Given the description of an element on the screen output the (x, y) to click on. 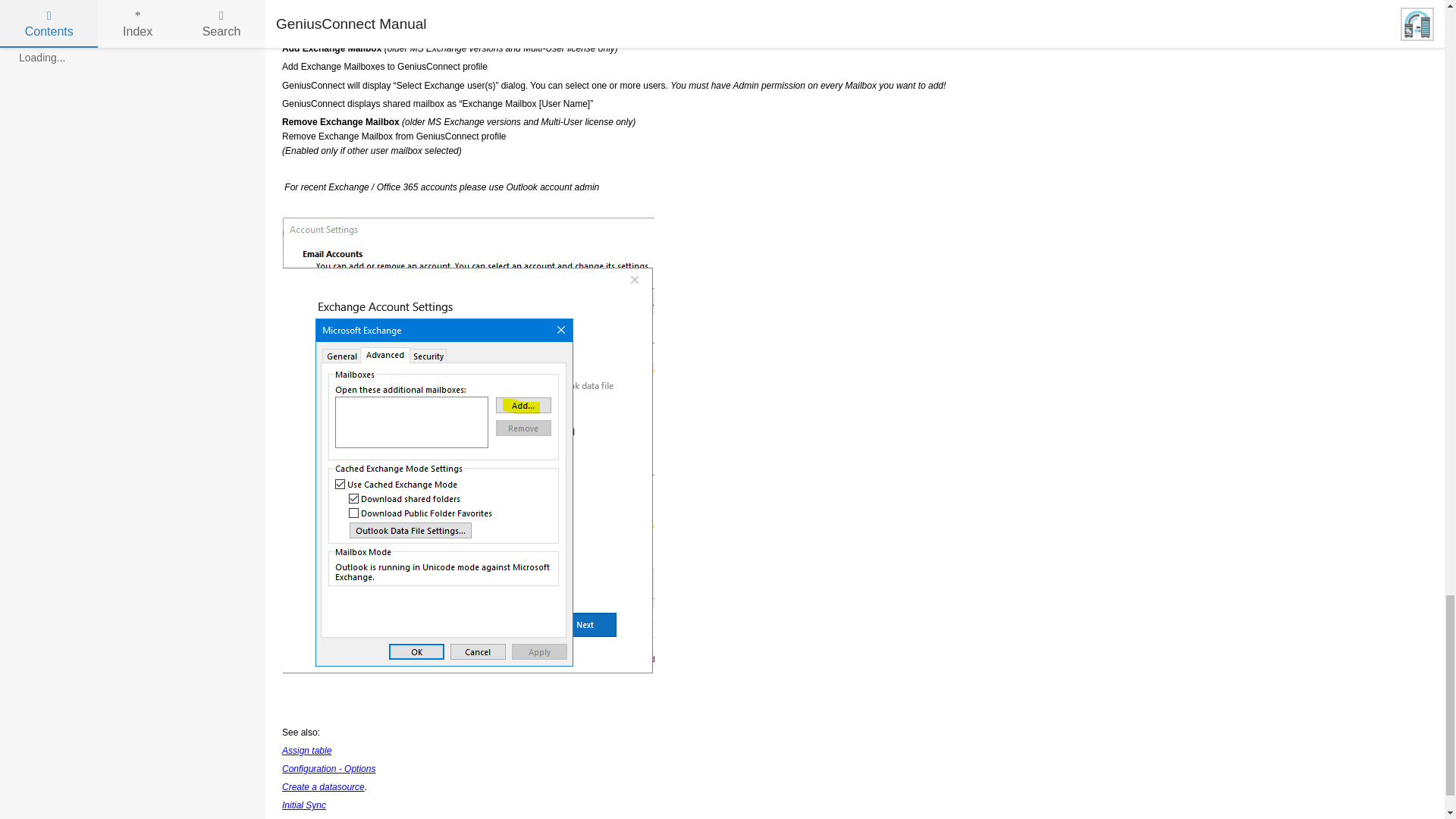
Configuration - Options (328, 768)
Assign table (306, 750)
Initial Sync (304, 805)
Create a datasource (323, 787)
